Given the description of an element on the screen output the (x, y) to click on. 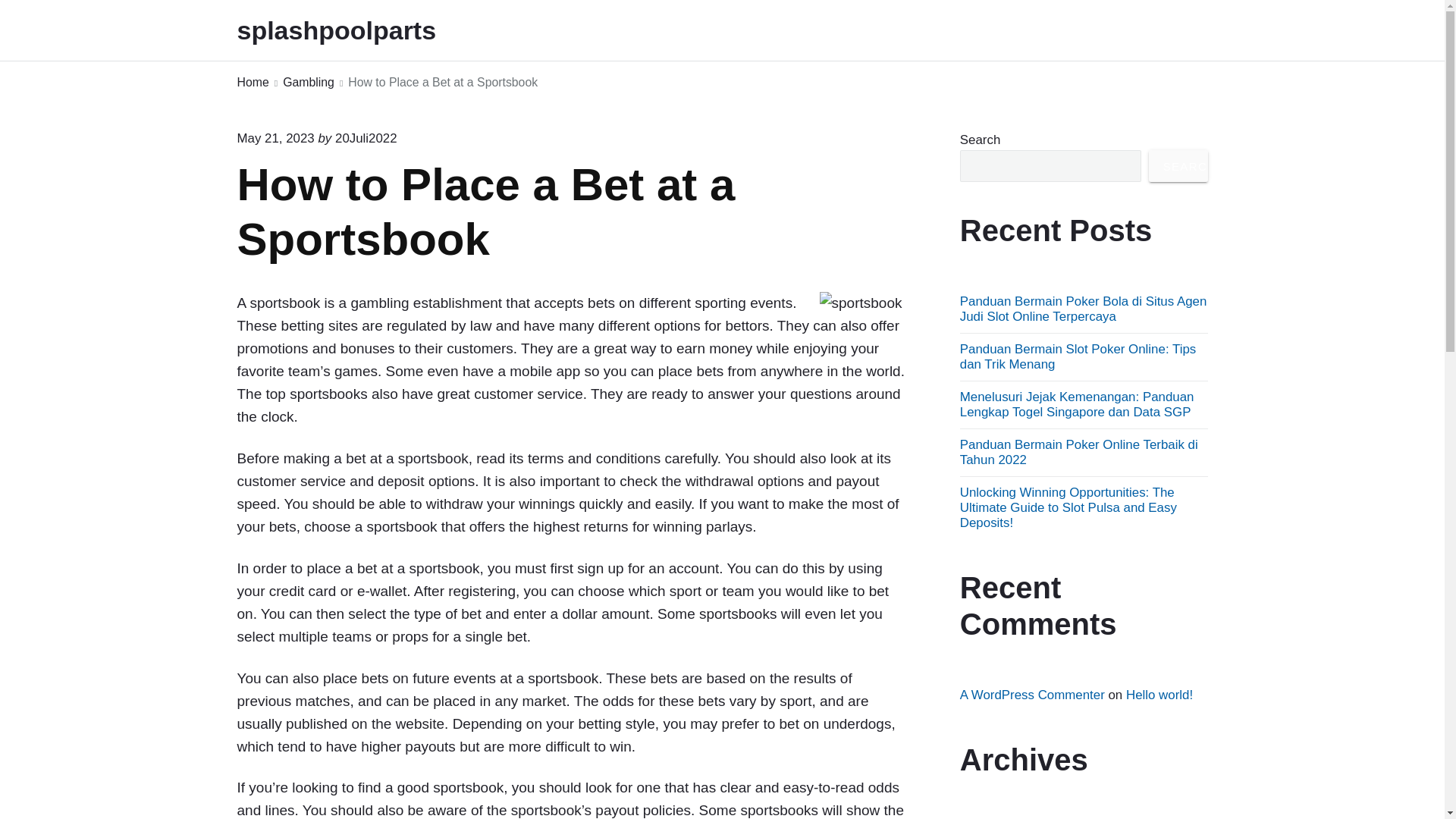
Hello world! (1158, 694)
A WordPress Commenter (1032, 694)
Panduan Bermain Poker Online Terbaik di Tahun 2022 (1078, 451)
Sunday, May 21, 2023, 5:11 am (274, 138)
Posts by 20Juli2022 (365, 138)
splashpoolparts (356, 30)
20Juli2022 (365, 138)
